Given the description of an element on the screen output the (x, y) to click on. 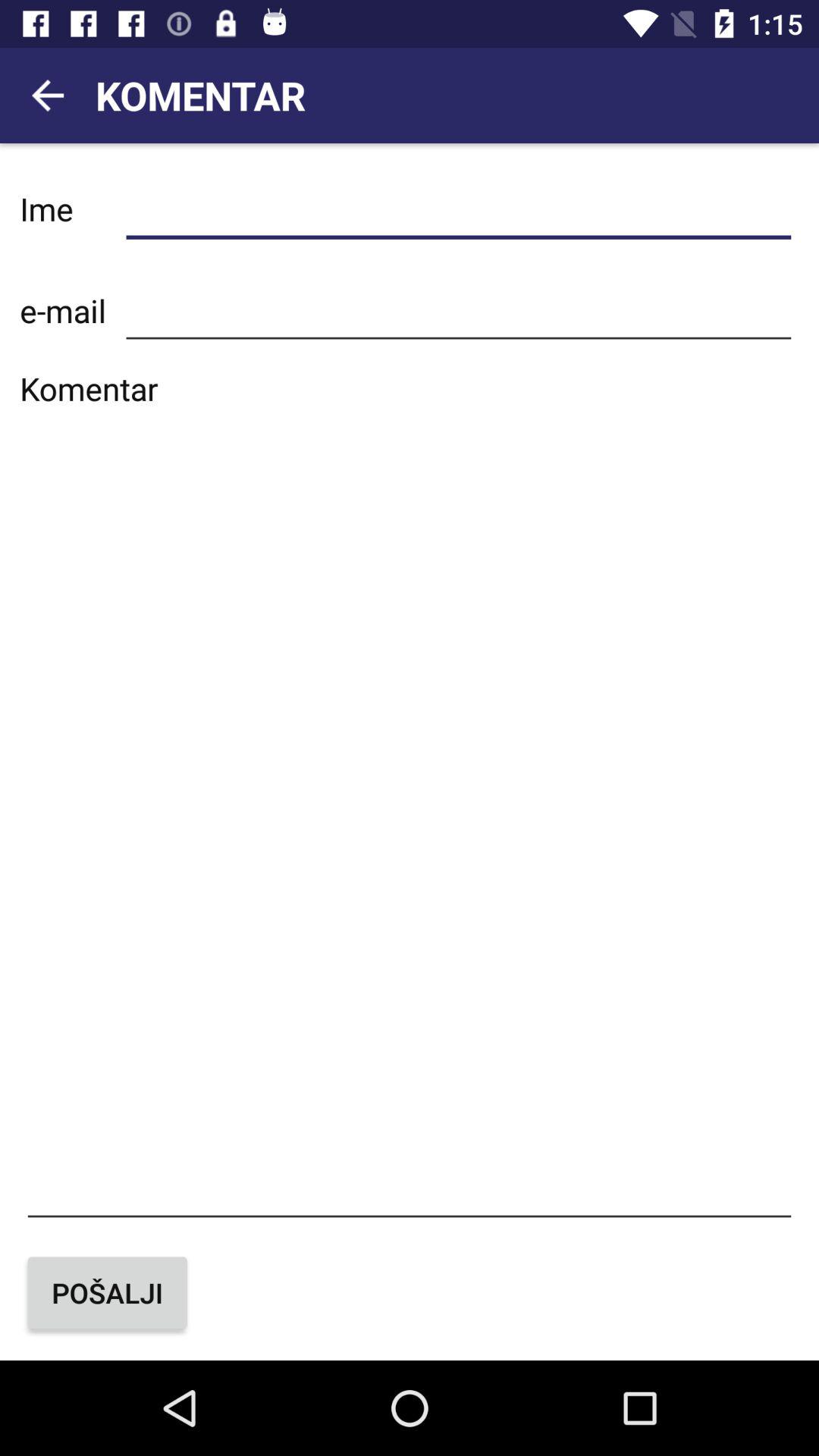
launch the item to the left of the komentar item (47, 95)
